Given the description of an element on the screen output the (x, y) to click on. 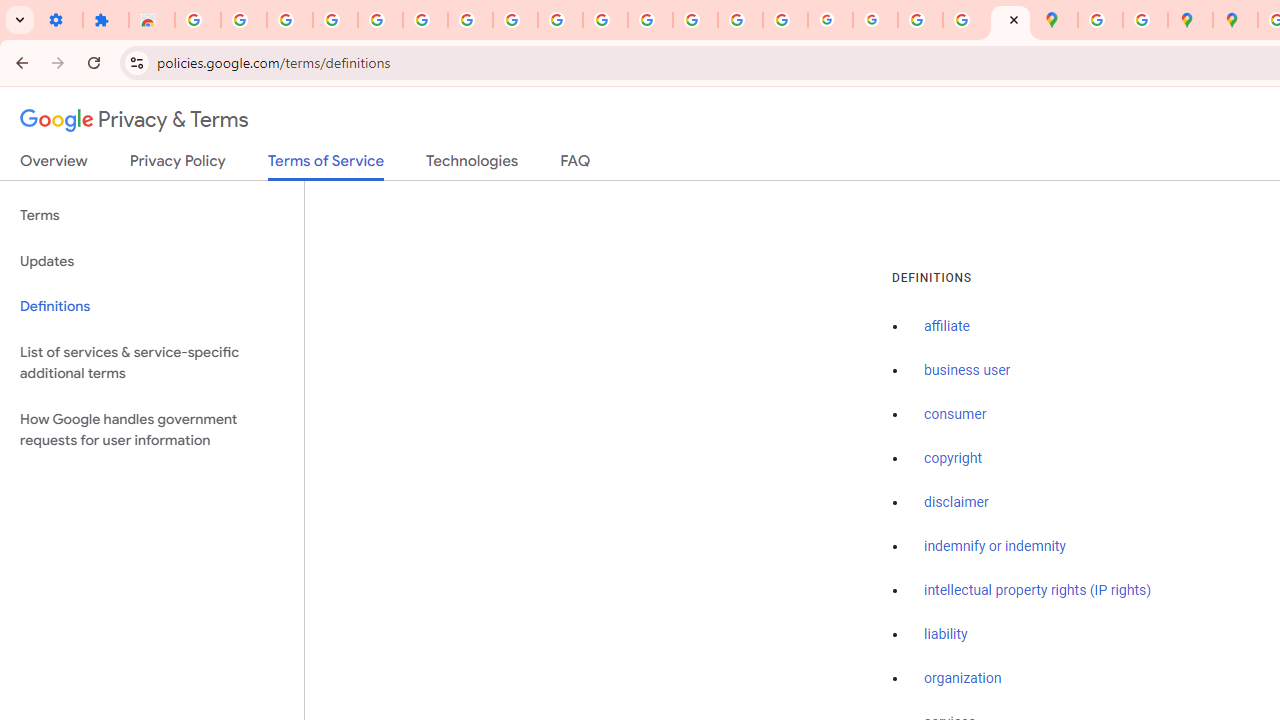
indemnify or indemnity (995, 546)
intellectual property rights (IP rights) (1038, 590)
How Google handles government requests for user information (152, 429)
